Given the description of an element on the screen output the (x, y) to click on. 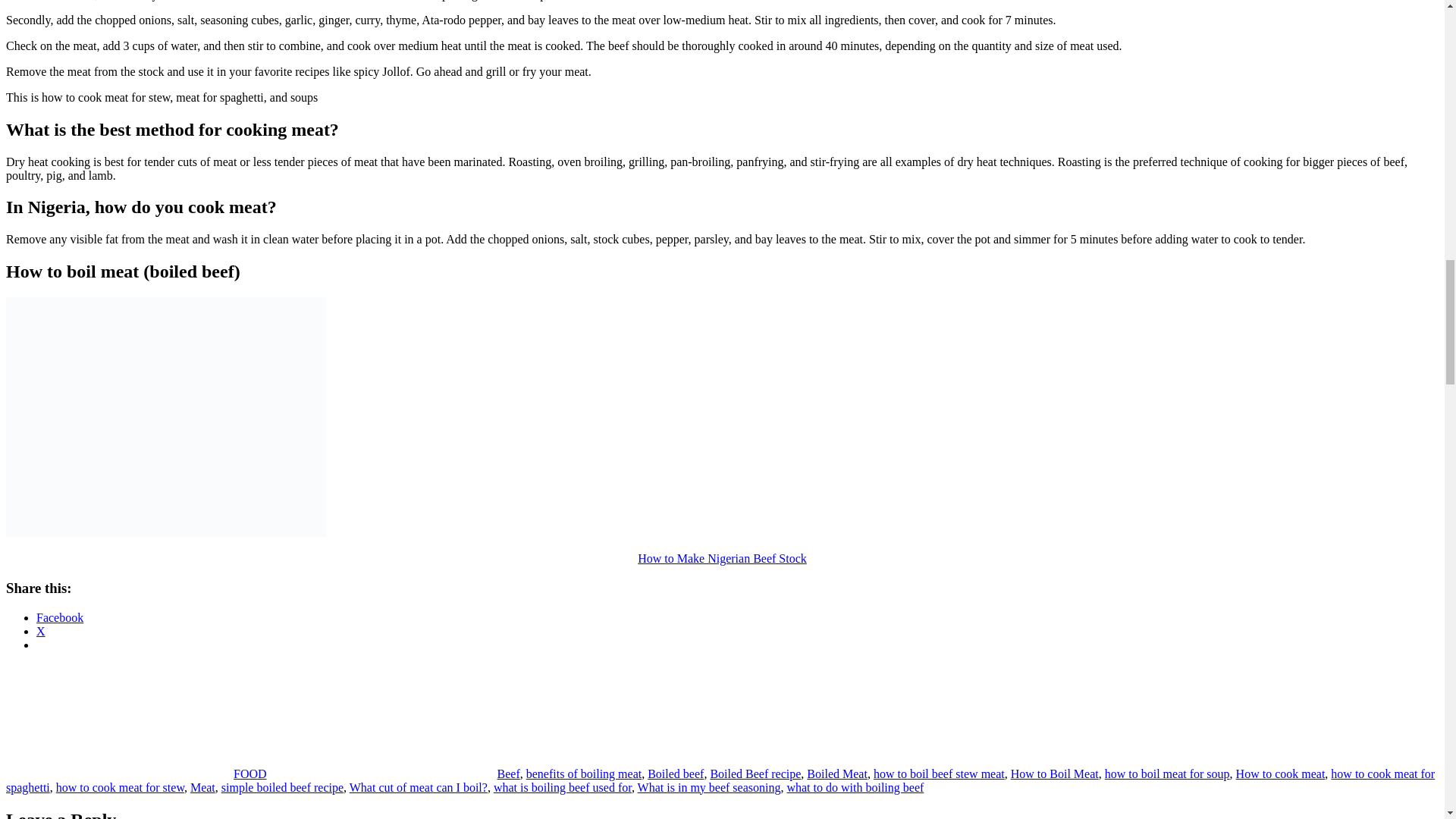
how to cook meat for stew (120, 787)
Facebook (59, 617)
Beef (508, 773)
How to Boil Meat (1054, 773)
How to Make Nigerian Beef Stock (721, 558)
how to boil meat for soup (1167, 773)
Boiled Beef recipe (755, 773)
what is boiling beef used for (562, 787)
How to cook meat (1280, 773)
how to boil beef stew meat (938, 773)
